Given the description of an element on the screen output the (x, y) to click on. 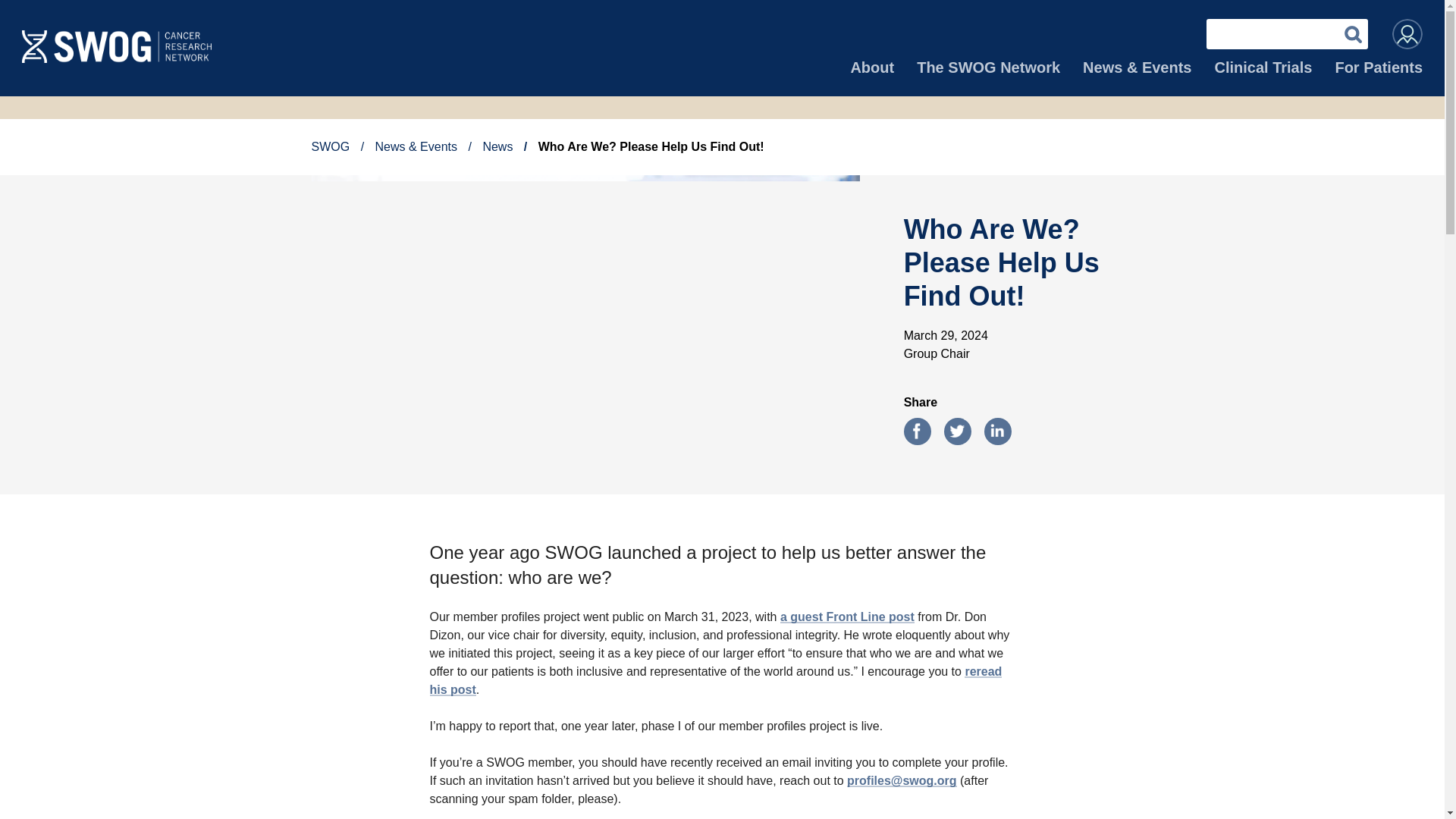
About (871, 76)
For Patients (1378, 76)
Log in (1406, 33)
The SWOG Network (988, 76)
Search (1353, 33)
Search (1353, 33)
Clinical Trials (1262, 76)
